Given the description of an element on the screen output the (x, y) to click on. 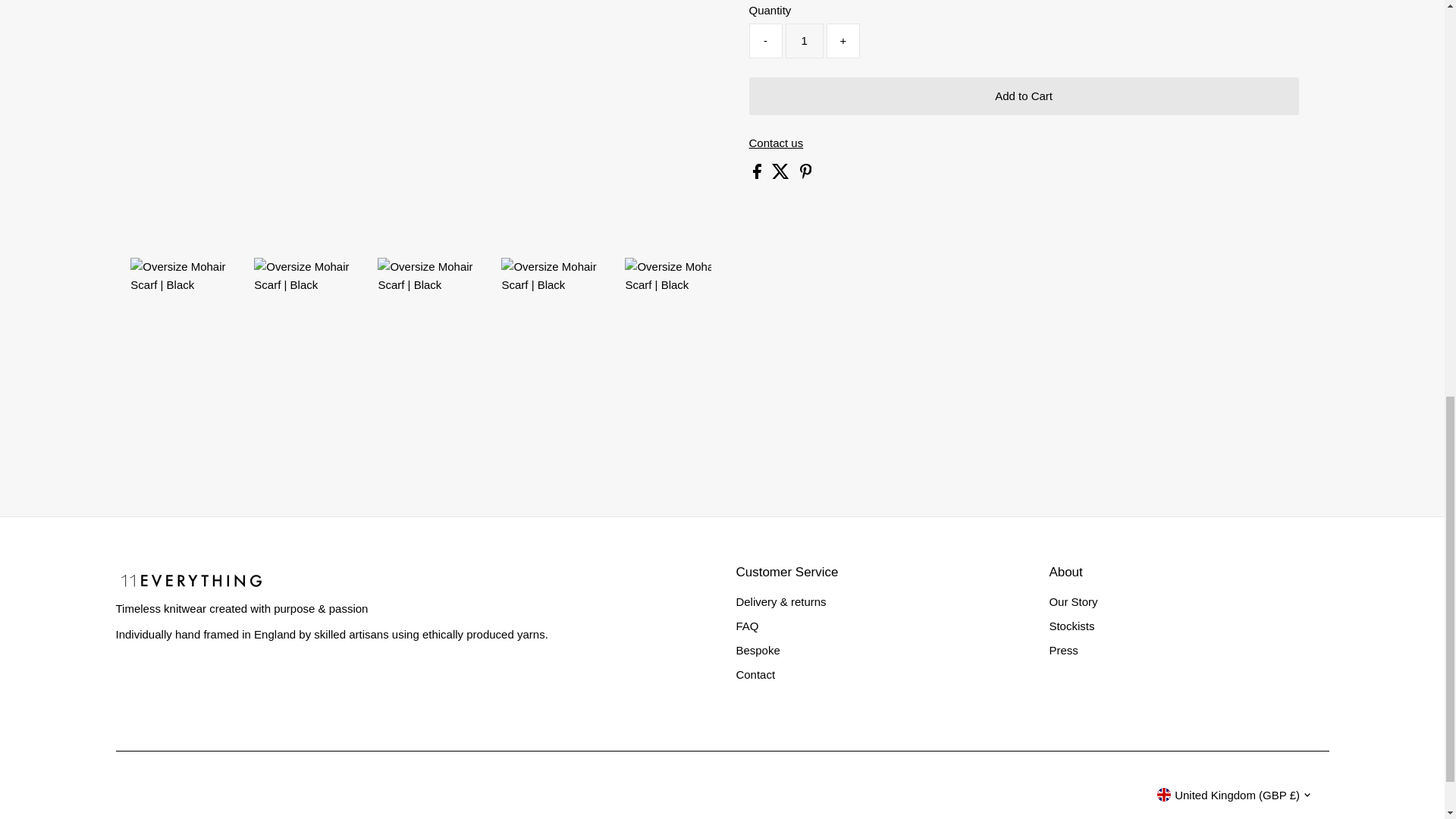
1 (805, 40)
Add to Cart (1023, 95)
